Given the description of an element on the screen output the (x, y) to click on. 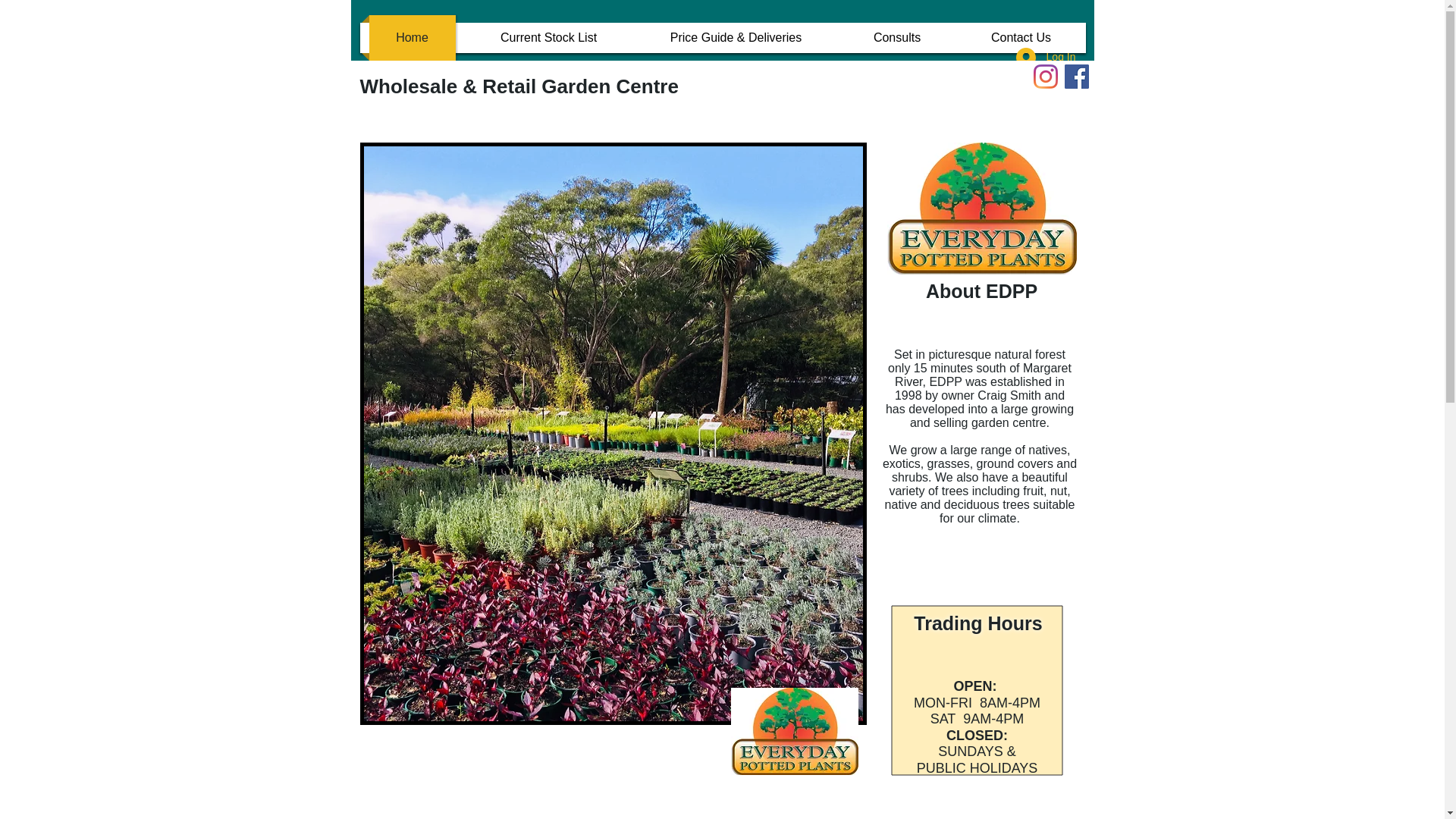
Consults (896, 37)
Current Stock List (547, 37)
Log In (1046, 57)
Contact Us (1021, 37)
Home (412, 37)
